Given the description of an element on the screen output the (x, y) to click on. 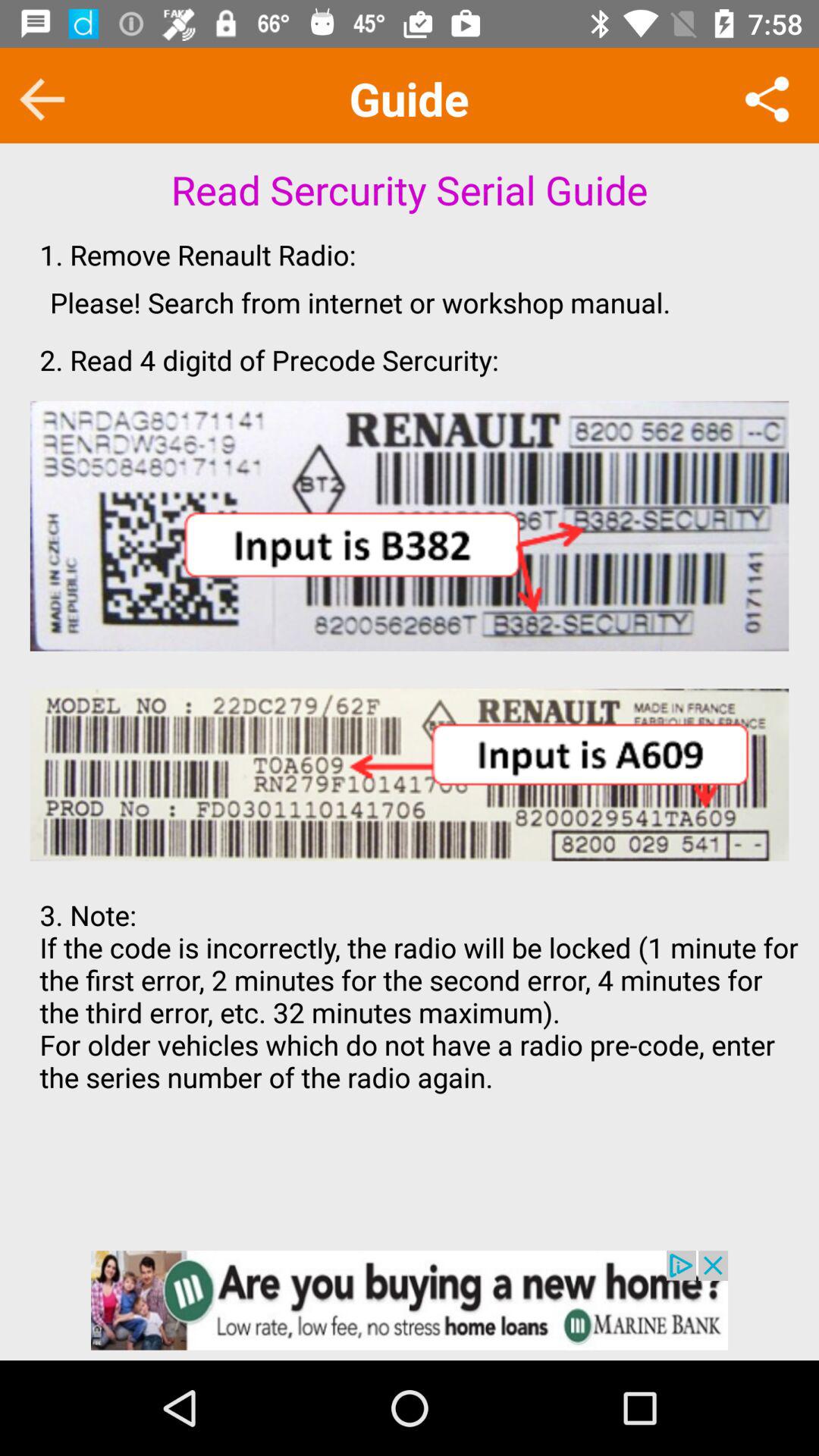
go back (41, 99)
